Given the description of an element on the screen output the (x, y) to click on. 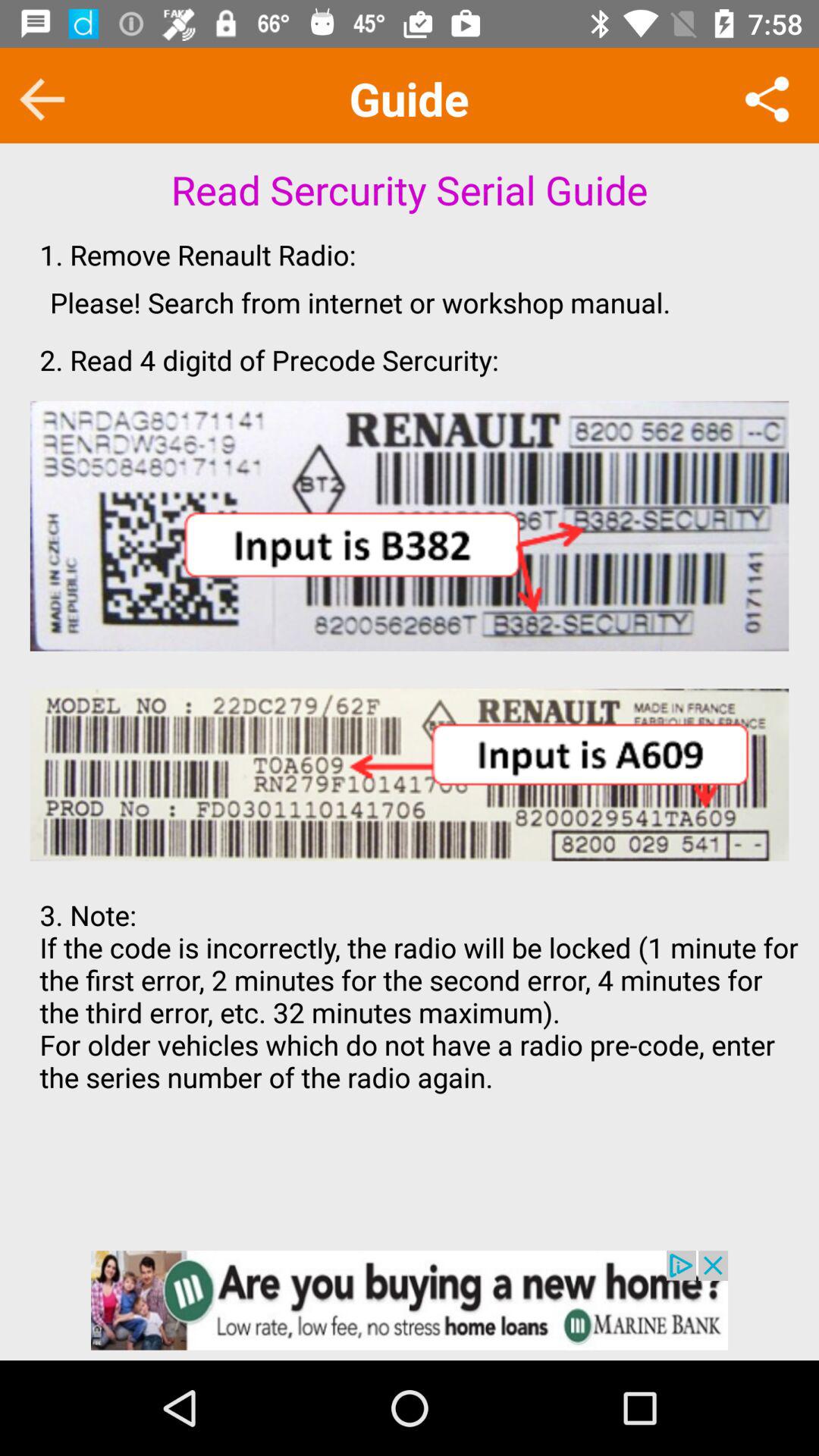
go back (41, 99)
